Given the description of an element on the screen output the (x, y) to click on. 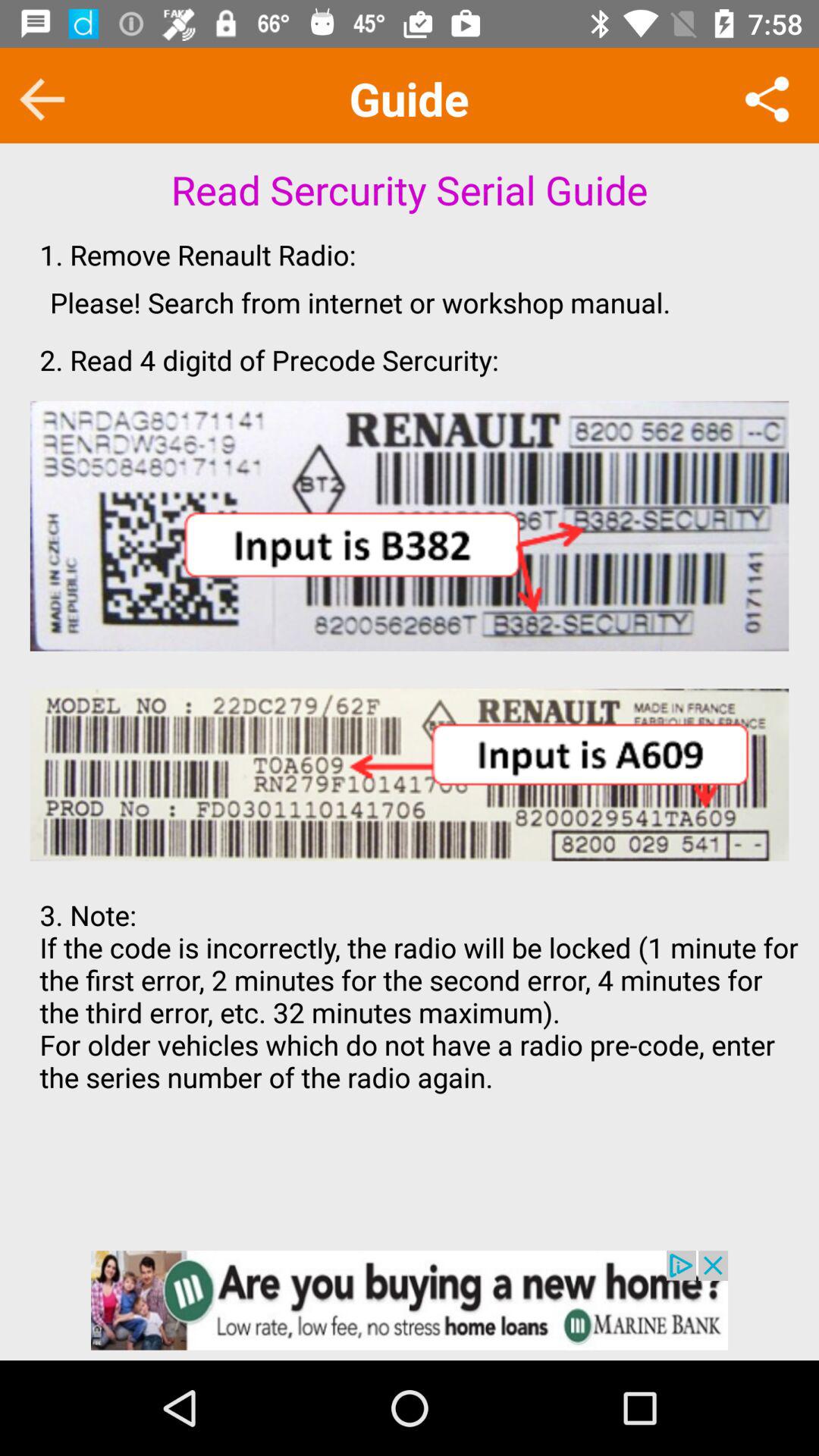
go back (41, 99)
